Given the description of an element on the screen output the (x, y) to click on. 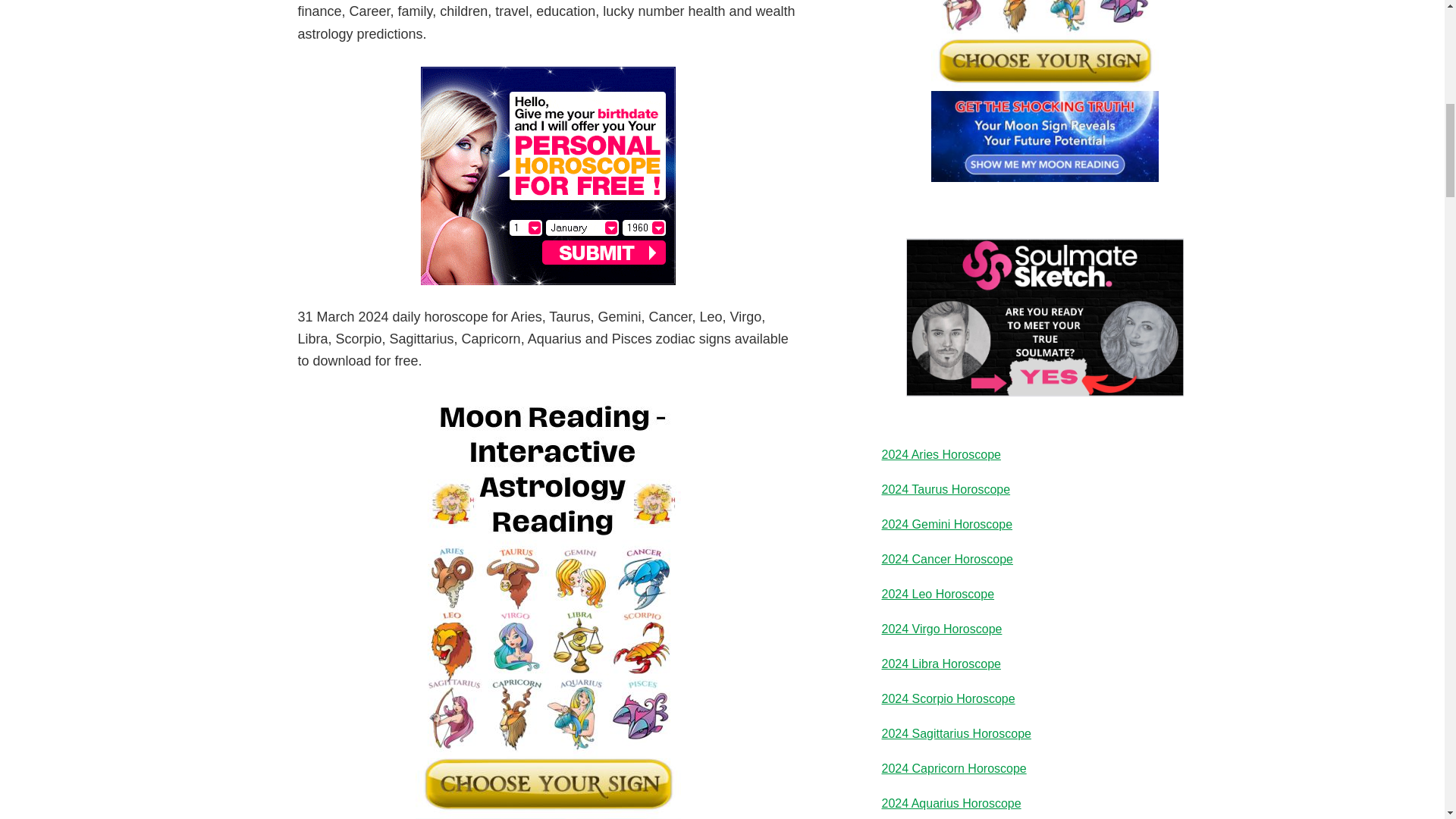
2024 Taurus Horoscope (945, 489)
2024 Libra Horoscope (940, 663)
2024 Gemini Horoscope (945, 523)
2024 Virgo Horoscope (940, 628)
2024 Aries Horoscope (940, 454)
2024 Aquarius Horoscope (950, 802)
2024 Cancer Horoscope (945, 558)
2024 Capricorn Horoscope (953, 768)
2024 Scorpio Horoscope (947, 698)
2024 Sagittarius Horoscope (955, 733)
